Given the description of an element on the screen output the (x, y) to click on. 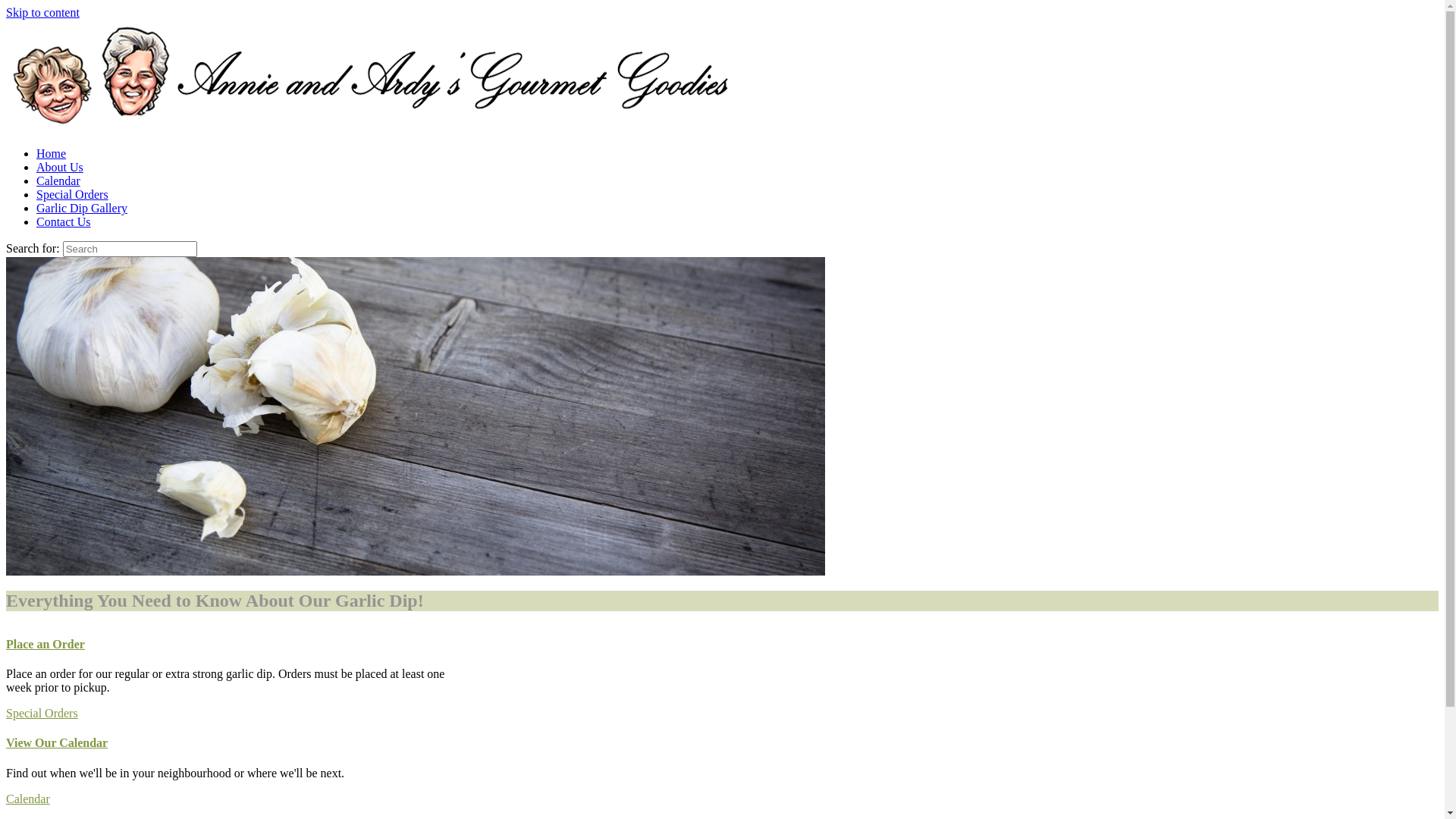
Annie and Ardy's Gourmet Goodies Element type: hover (370, 127)
Contact Us Element type: text (63, 221)
Special Orders Element type: text (72, 194)
Garlic Dip Gallery Element type: text (81, 207)
Special Orders Element type: text (42, 712)
Place an Order Element type: text (237, 644)
About Us Element type: text (59, 166)
Skip to content Element type: text (42, 12)
Calendar Element type: text (58, 180)
Calendar Element type: text (28, 798)
View Our Calendar Element type: text (237, 742)
Home Element type: text (50, 153)
